Given the description of an element on the screen output the (x, y) to click on. 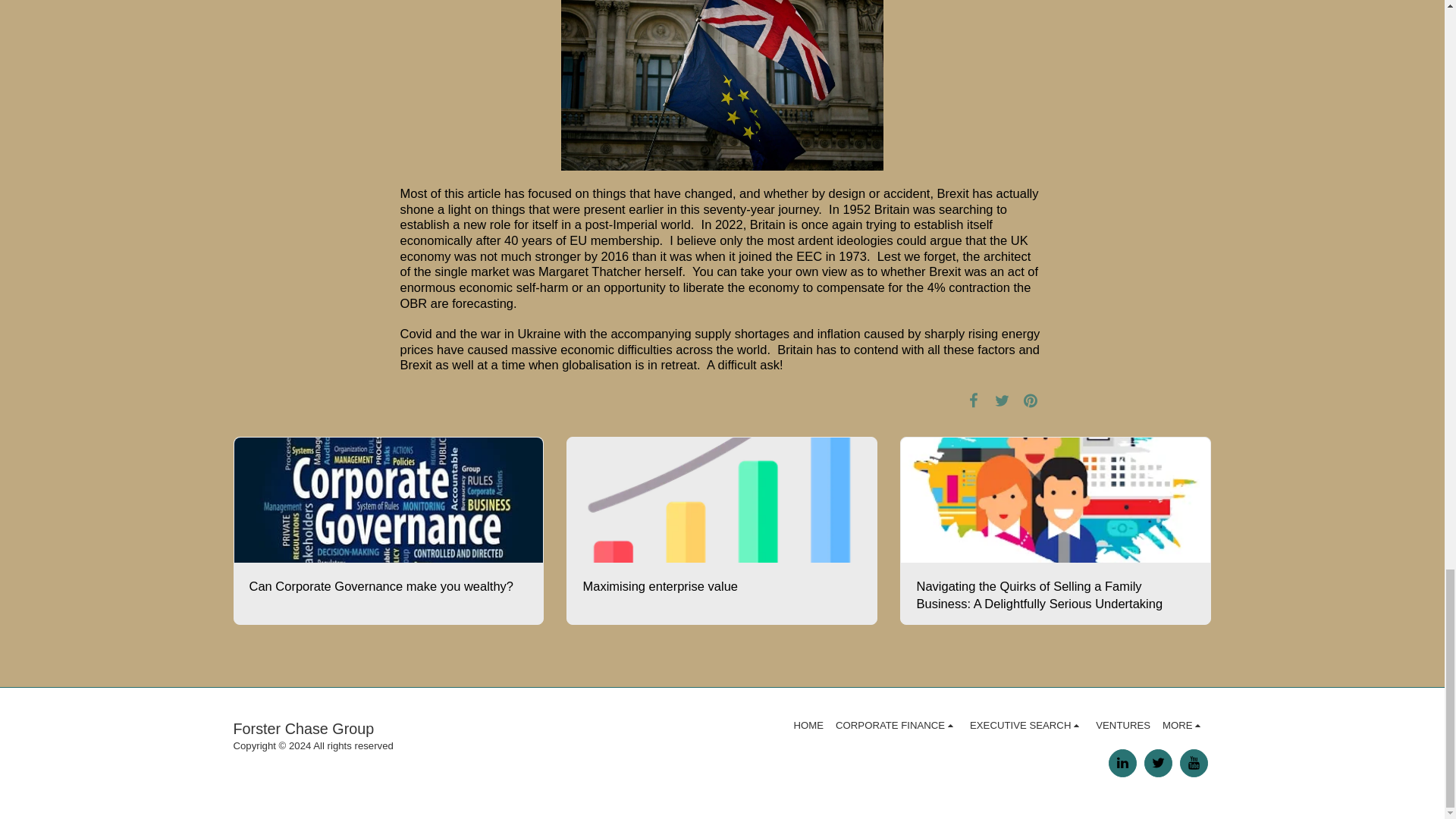
Pin it (1029, 400)
Tweet (1002, 400)
Share on Facebook (973, 400)
